Given the description of an element on the screen output the (x, y) to click on. 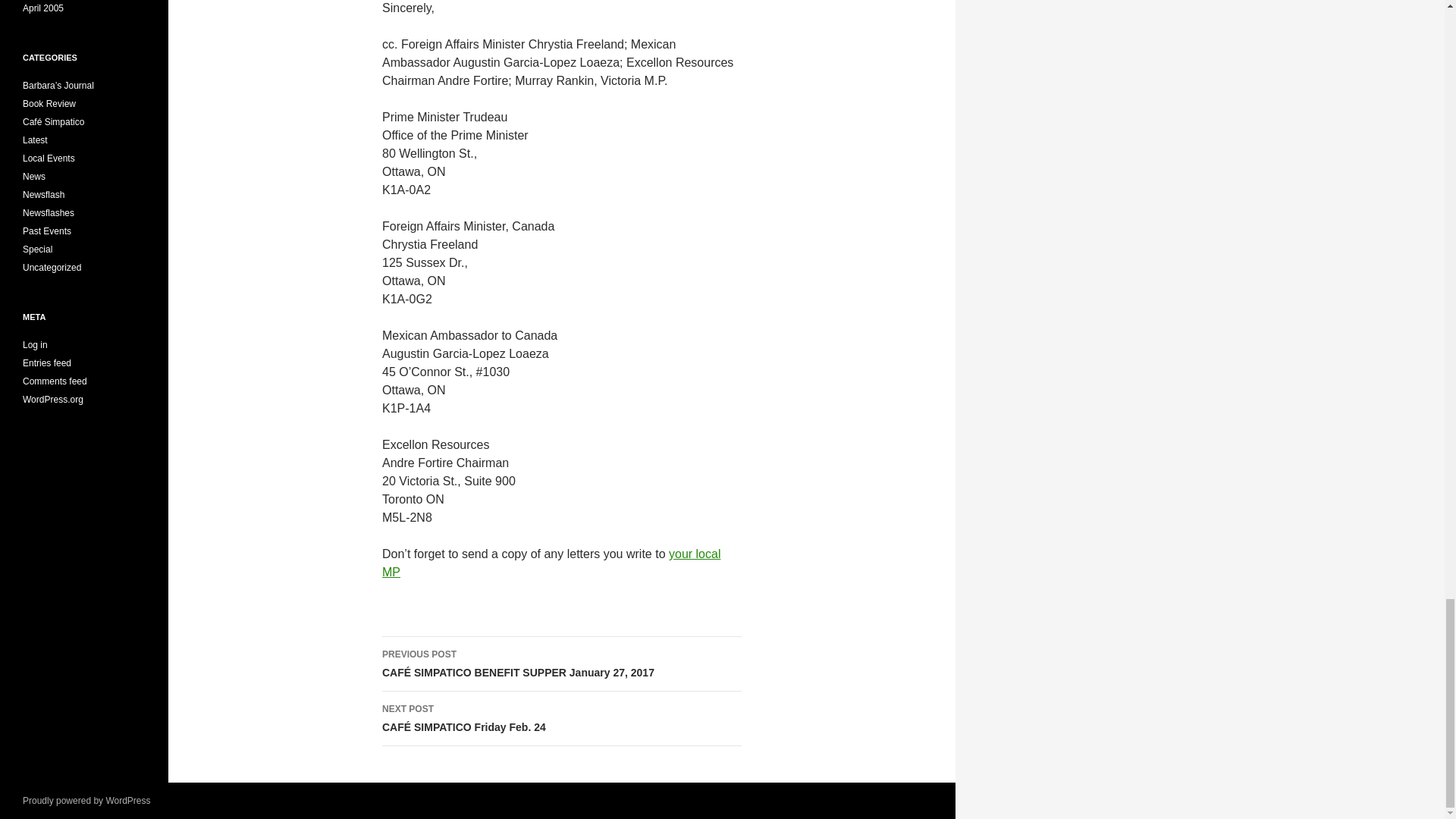
your local MP (550, 562)
